Given the description of an element on the screen output the (x, y) to click on. 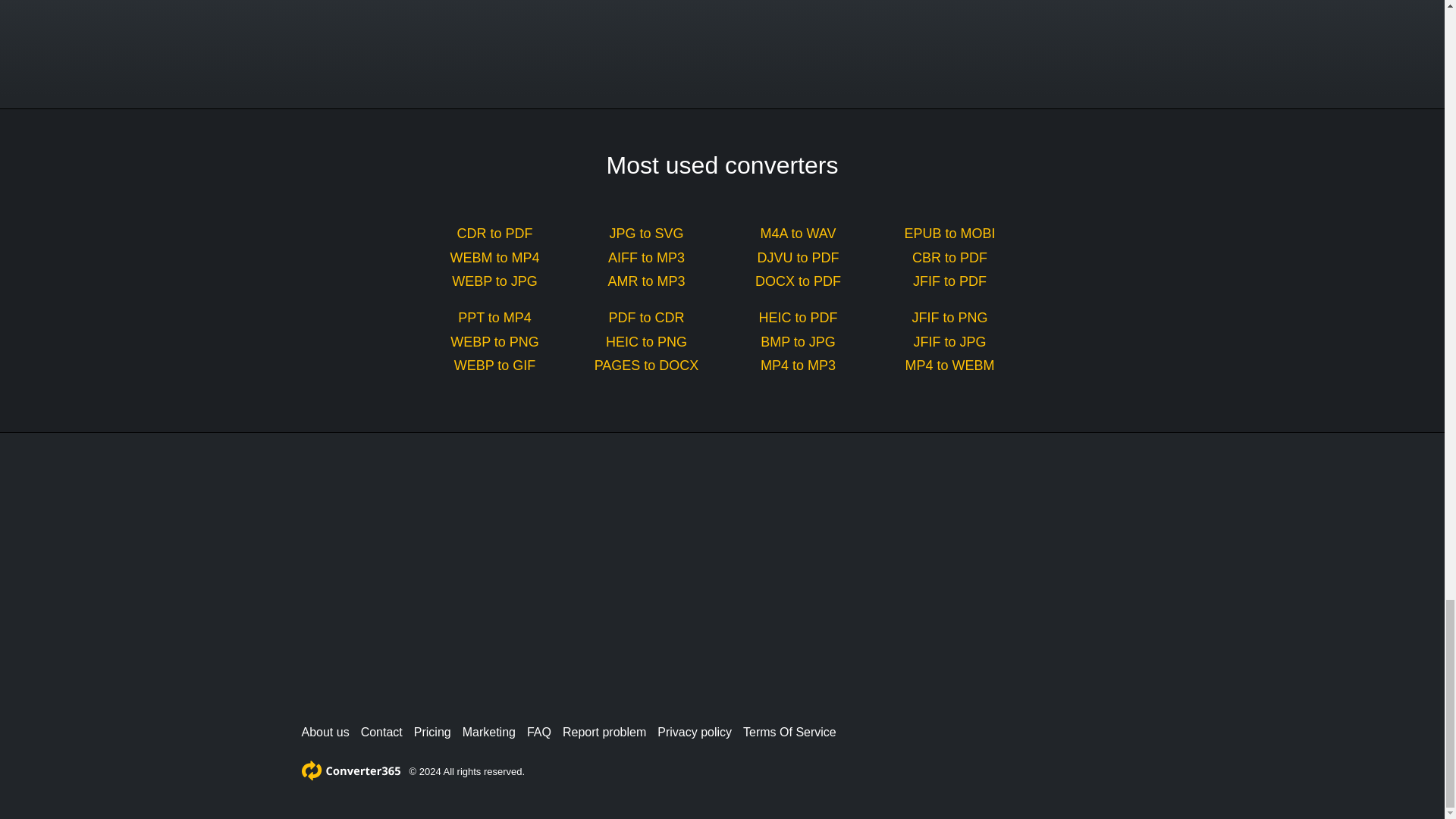
Converter365 (350, 770)
